Given the description of an element on the screen output the (x, y) to click on. 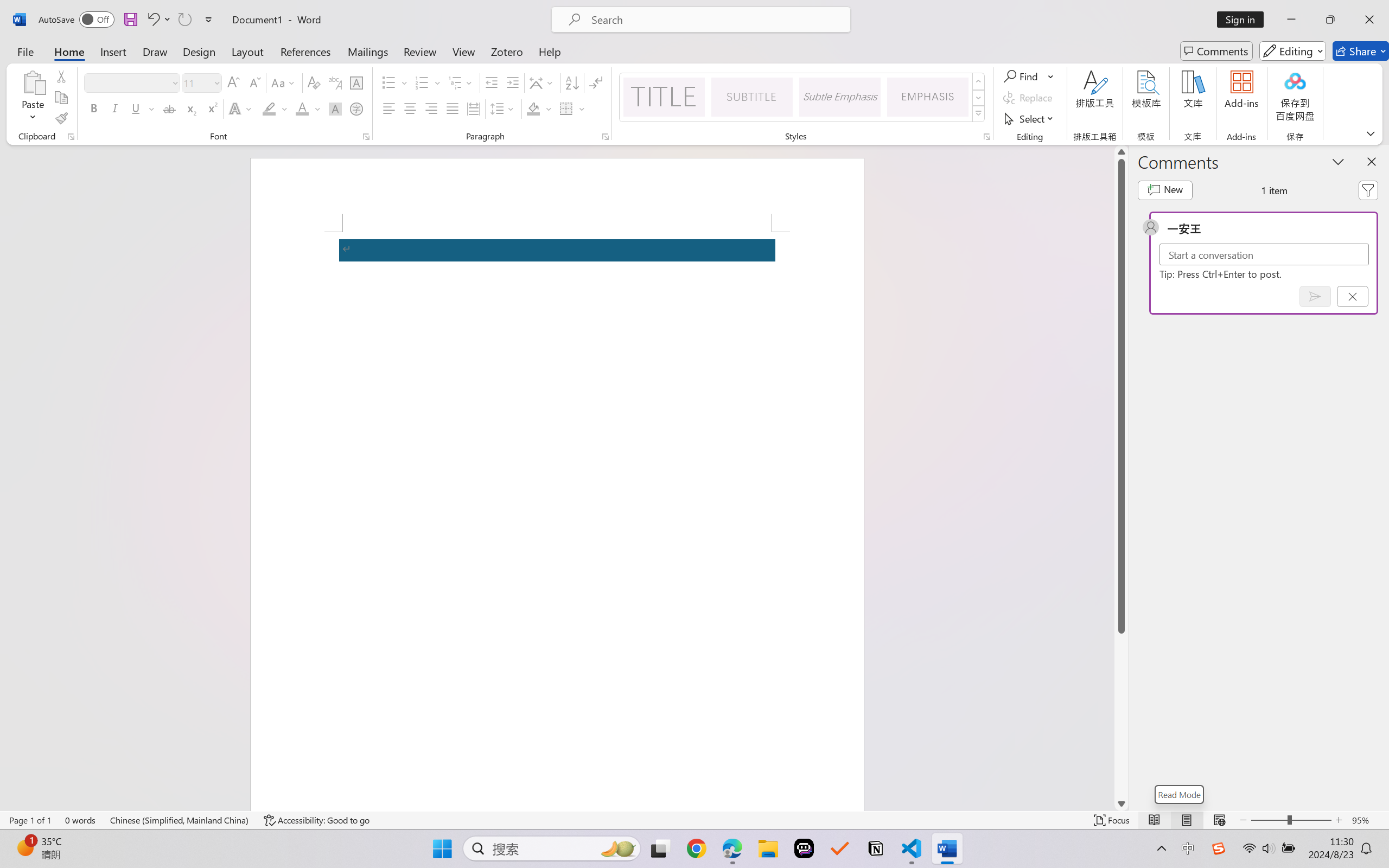
Undo Apply Quick Style Set (158, 19)
Language Chinese (Simplified, Mainland China) (179, 819)
AutomationID: QuickStylesGallery (802, 97)
Subtitle (751, 96)
